Given the description of an element on the screen output the (x, y) to click on. 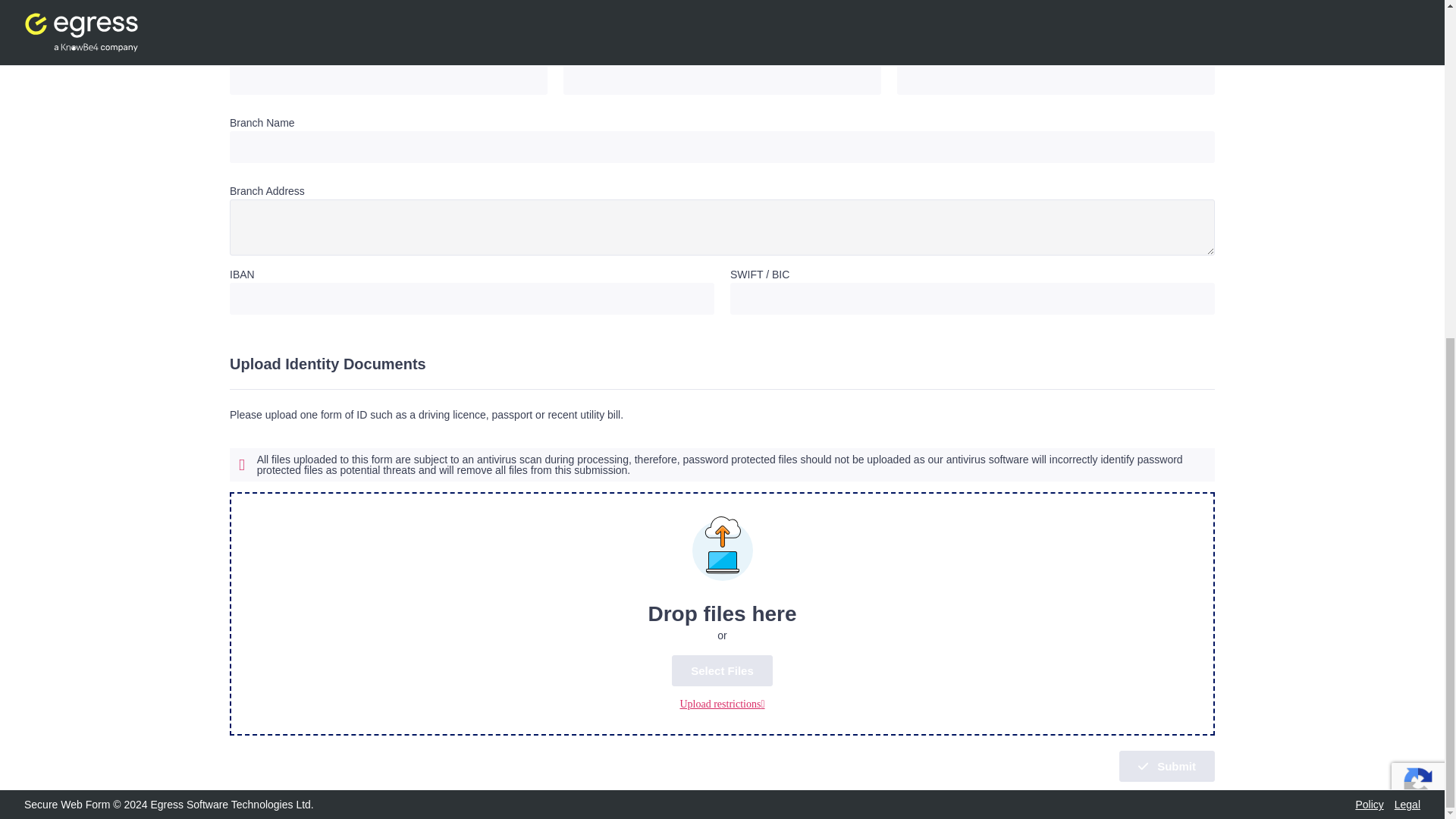
Legal (1407, 804)
Upload restrictions (721, 704)
Policy (1369, 804)
  Submit (1166, 766)
Select Files (722, 670)
